Given the description of an element on the screen output the (x, y) to click on. 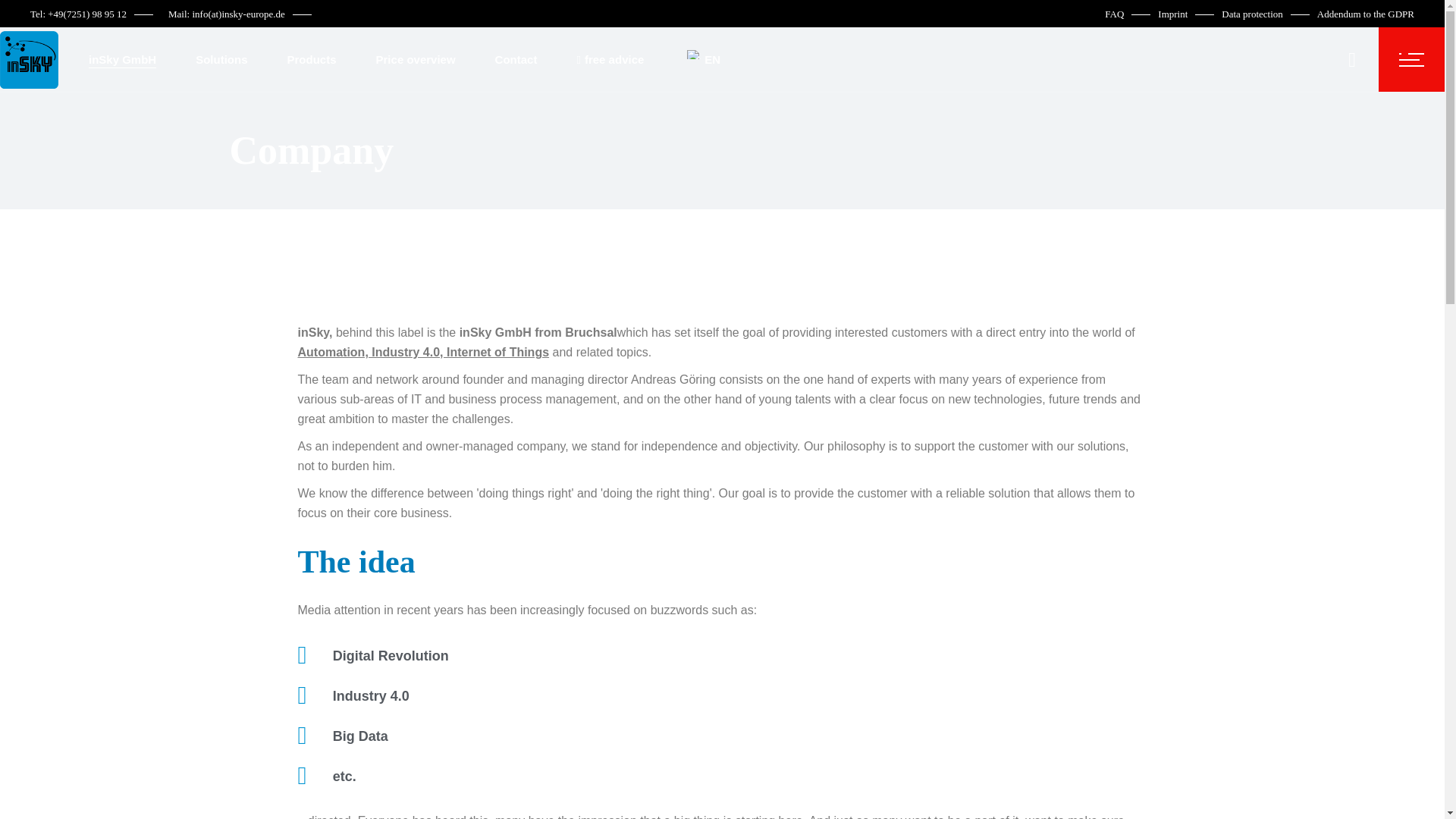
FAQ (1114, 13)
Price overview (415, 59)
free advice (609, 59)
Addendum to the GDPR (1365, 13)
Imprint (1172, 13)
Data protection (1251, 13)
inSky GmbH (121, 59)
